Given the description of an element on the screen output the (x, y) to click on. 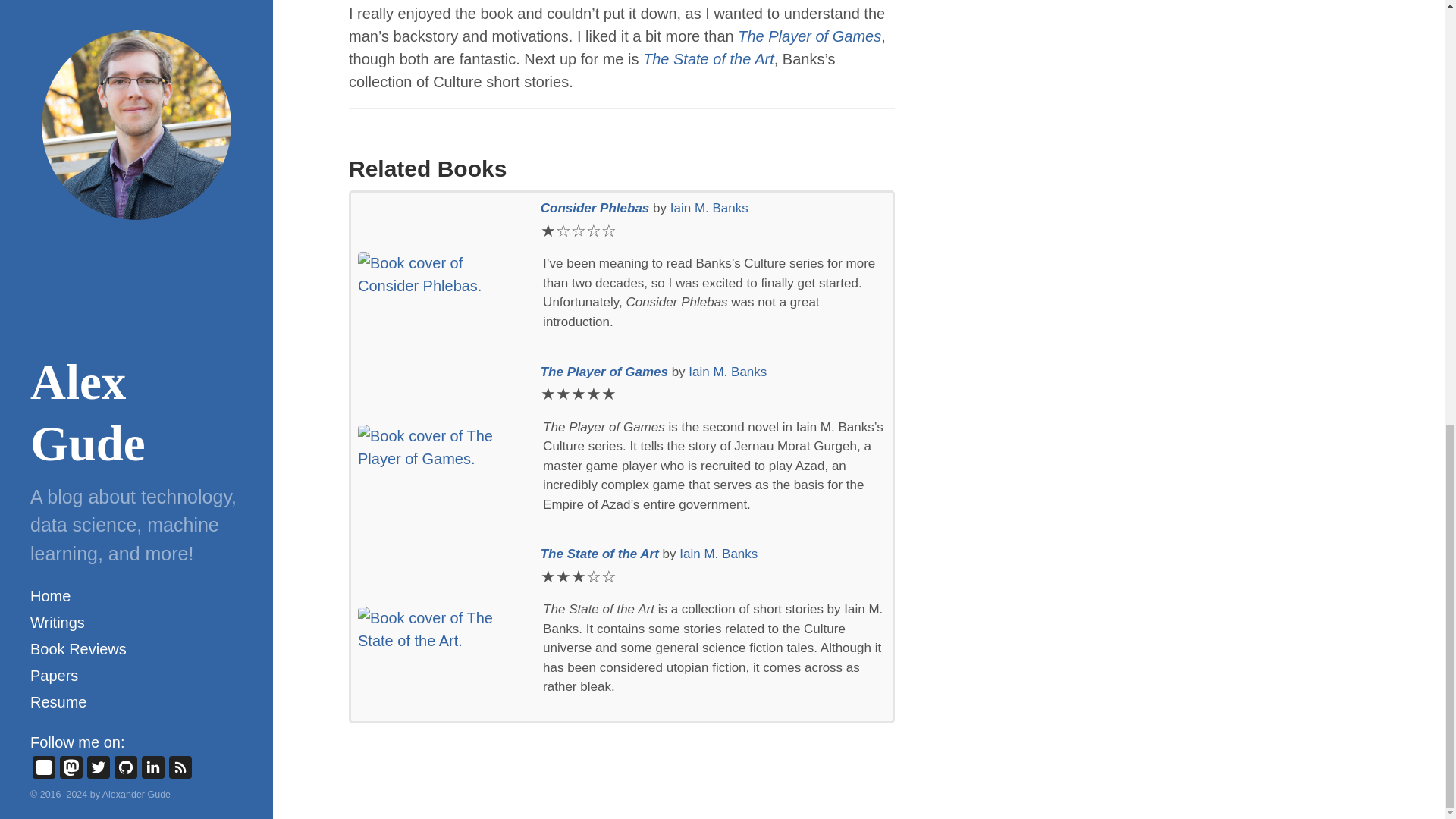
Consider Phlebas (596, 207)
Iain M. Banks (718, 554)
The State of the Art (708, 58)
The Player of Games (809, 36)
Iain M. Banks (708, 207)
Iain M. Banks (727, 371)
The Player of Games (605, 371)
The State of the Art (601, 554)
